Given the description of an element on the screen output the (x, y) to click on. 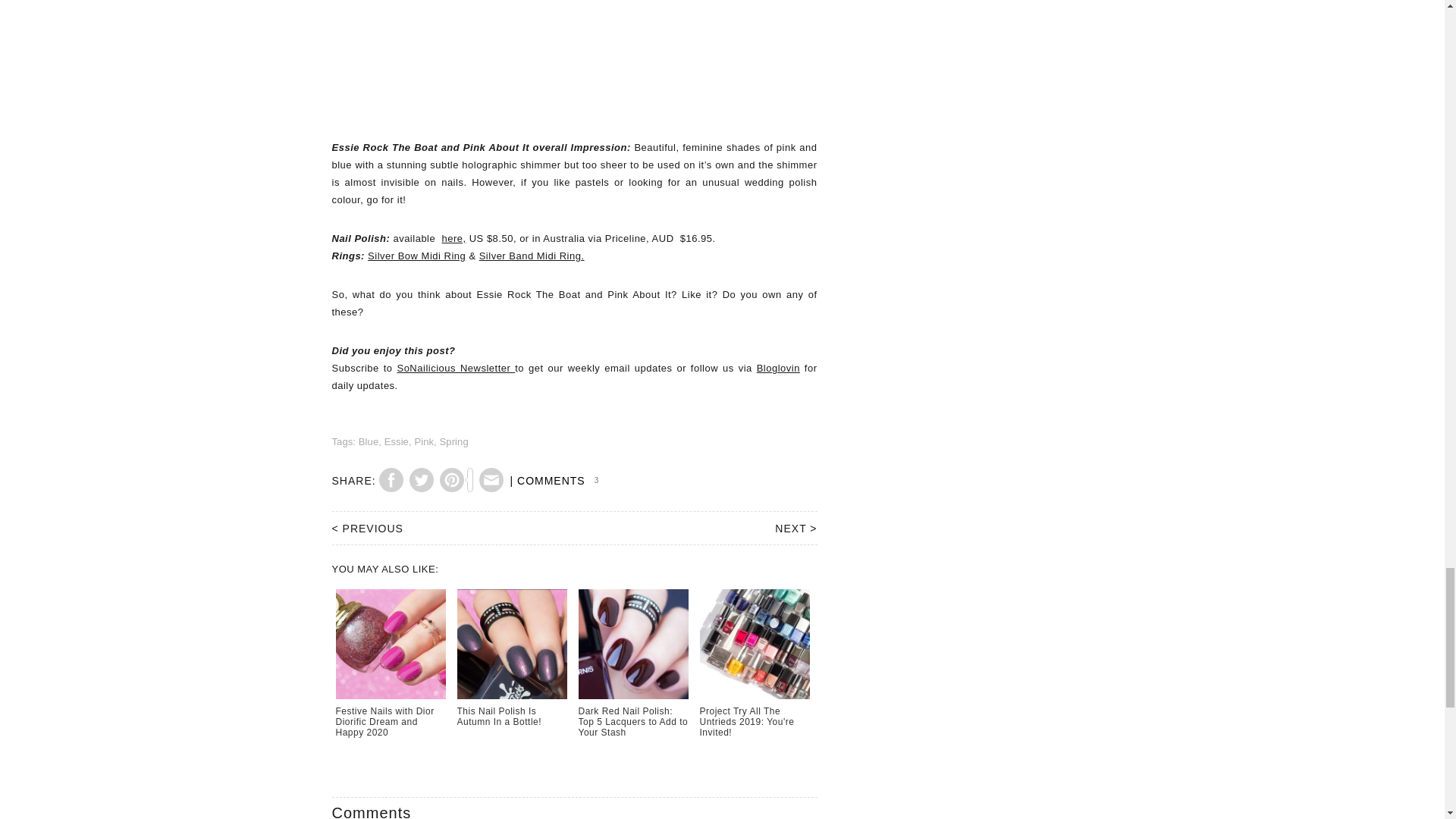
Pinterest (456, 481)
Twitter (421, 481)
Facebook (390, 481)
